Given the description of an element on the screen output the (x, y) to click on. 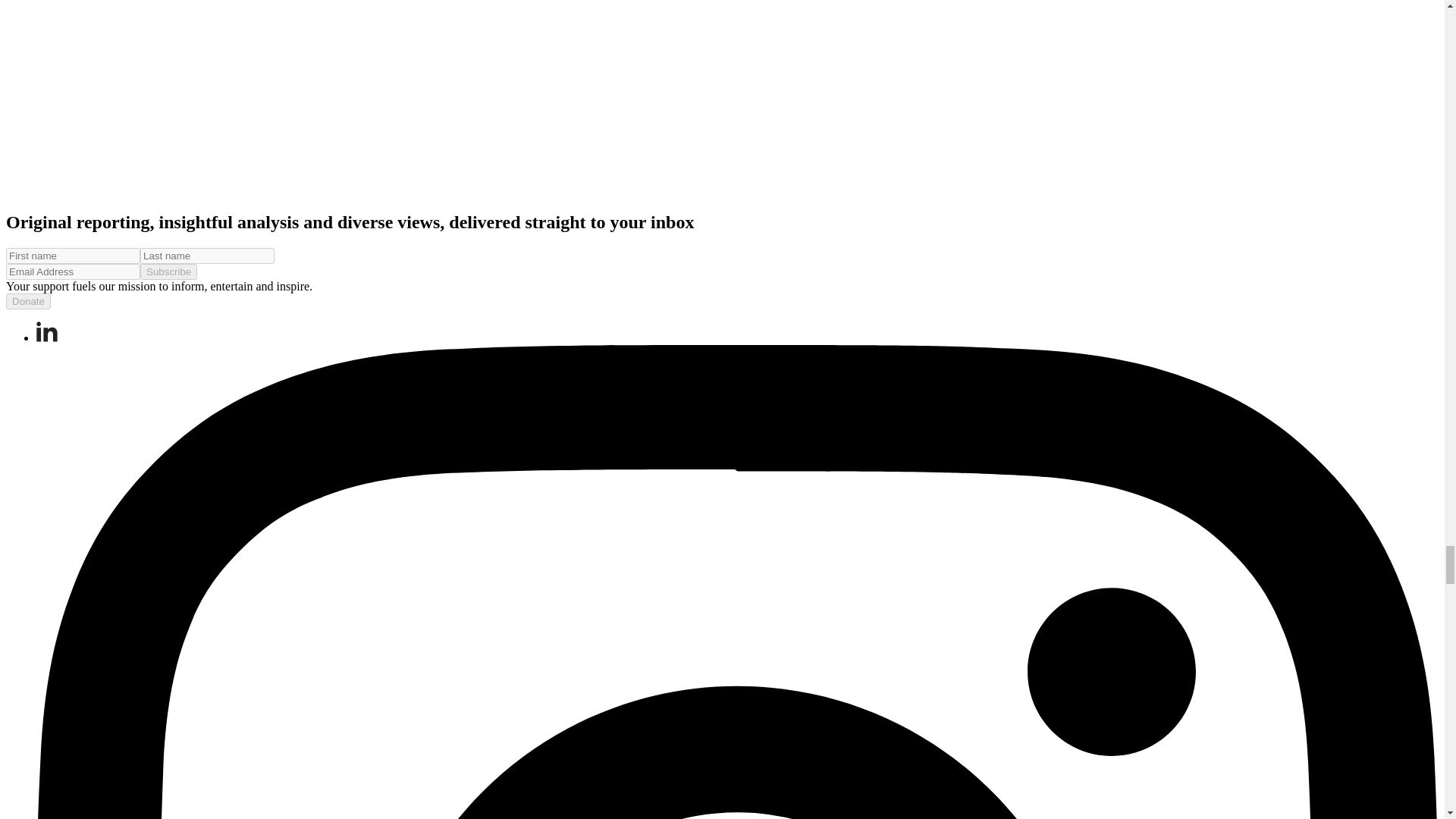
LinkedIn (47, 331)
